Given the description of an element on the screen output the (x, y) to click on. 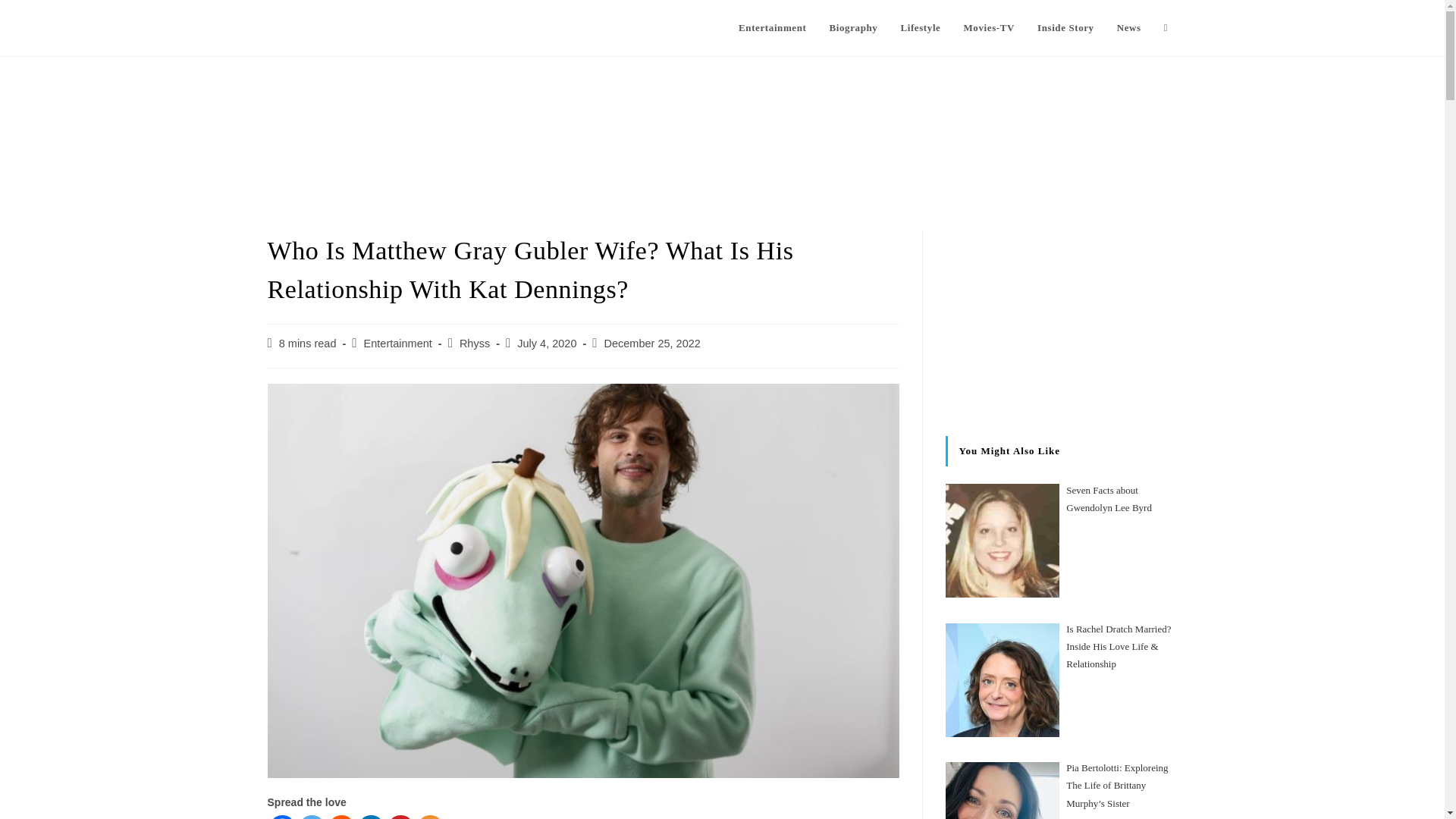
Movies-TV (989, 28)
Toggle website search (1166, 28)
CelebSuburb (317, 26)
Entertainment (771, 28)
Inside Story (1065, 28)
News (1129, 28)
Lifestyle (920, 28)
Posts by Rhyss (474, 343)
More (430, 816)
Twitter (311, 816)
Rhyss (474, 343)
Pinterest (400, 816)
Reddit (340, 816)
Biography (852, 28)
Linkedin (371, 816)
